Given the description of an element on the screen output the (x, y) to click on. 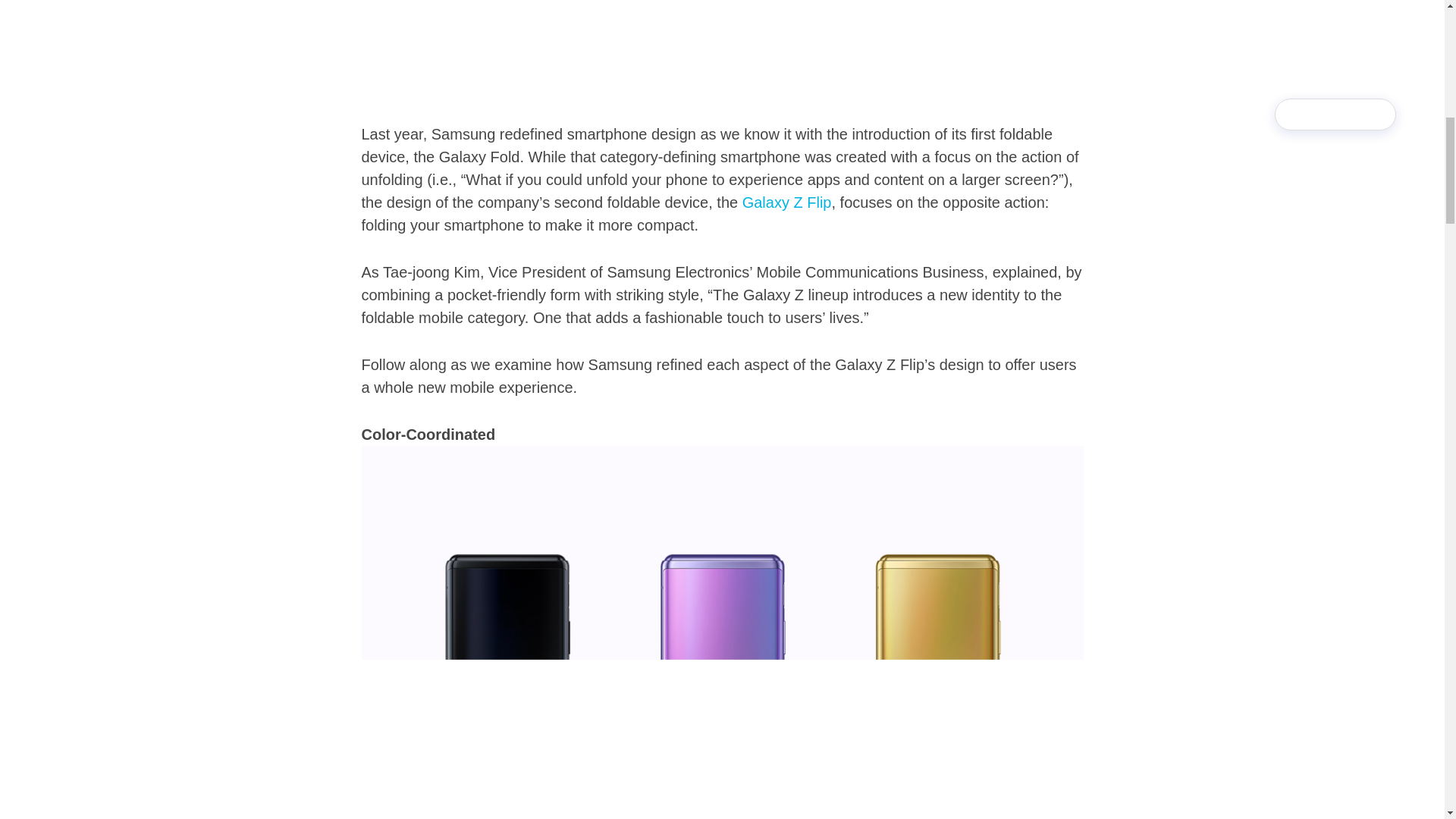
Galaxy Z Flip (786, 202)
